Given the description of an element on the screen output the (x, y) to click on. 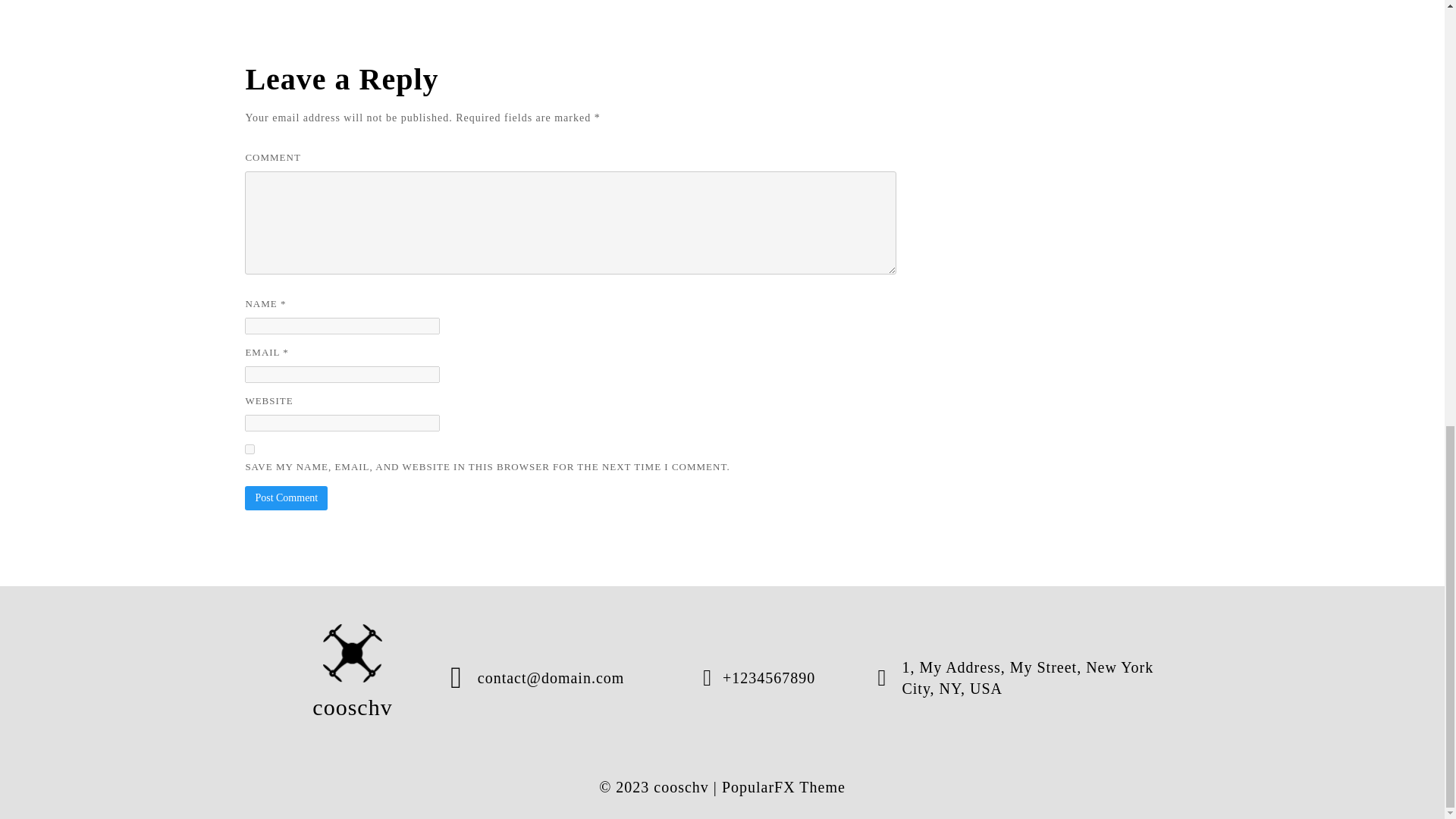
logo (352, 652)
yes (249, 449)
Post Comment (285, 498)
cooschv (352, 678)
PopularFX Theme (783, 786)
Post Comment (285, 498)
